Given the description of an element on the screen output the (x, y) to click on. 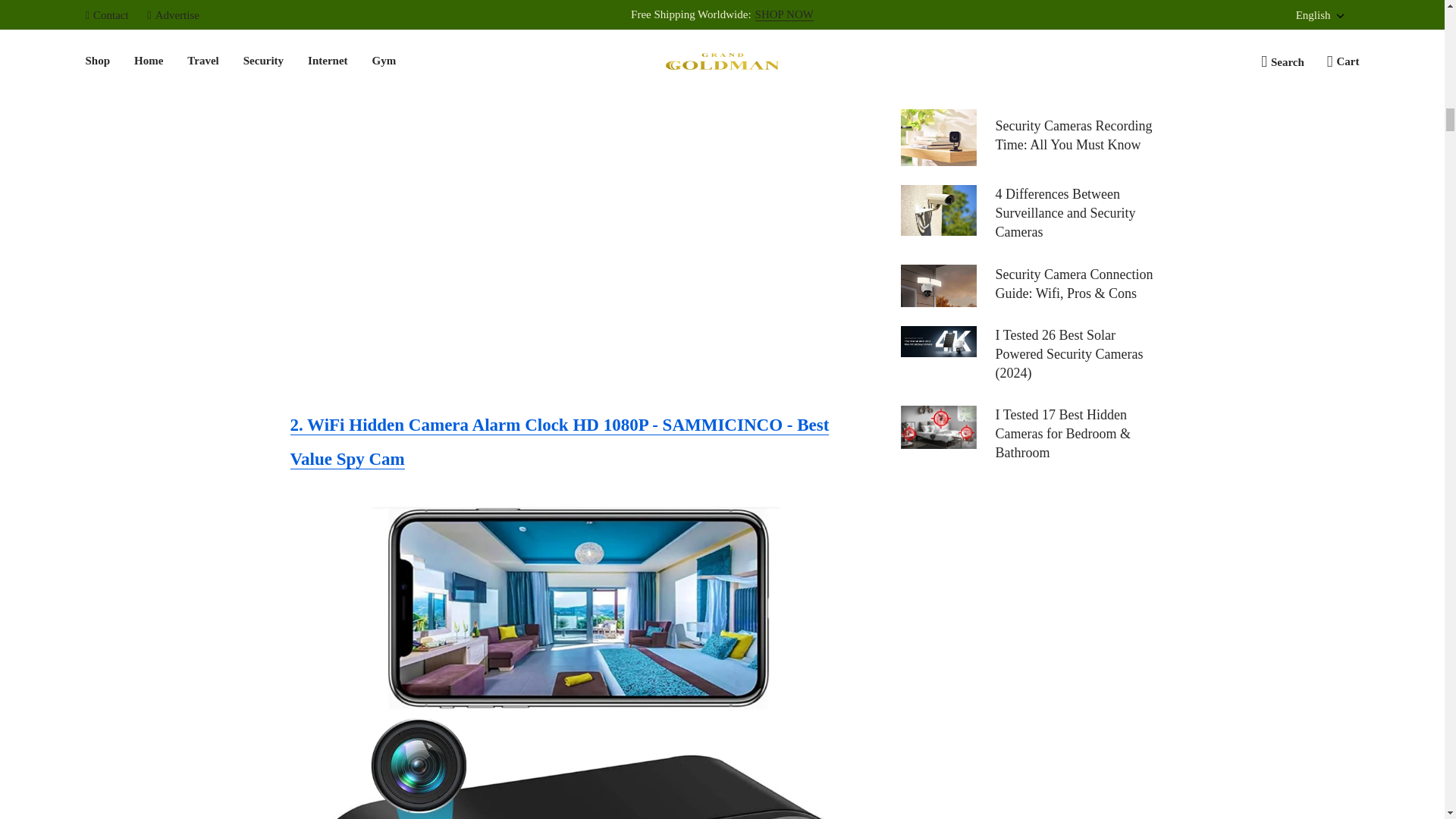
Blink discreet cam (492, 19)
